Given the description of an element on the screen output the (x, y) to click on. 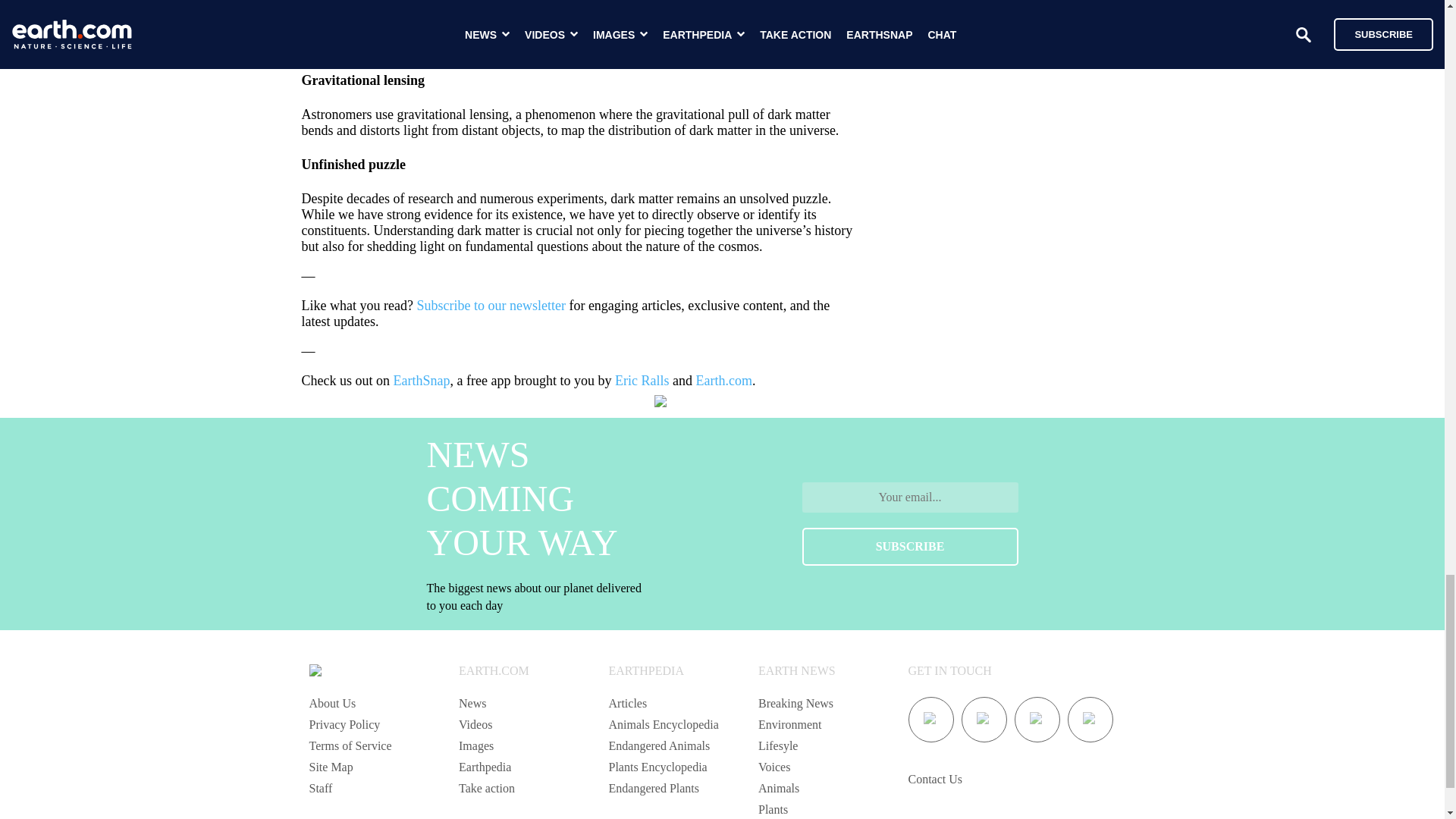
Eric Ralls (641, 380)
Earth.com (723, 380)
EarthSnap (421, 380)
Subscribe to our newsletter (490, 305)
